Given the description of an element on the screen output the (x, y) to click on. 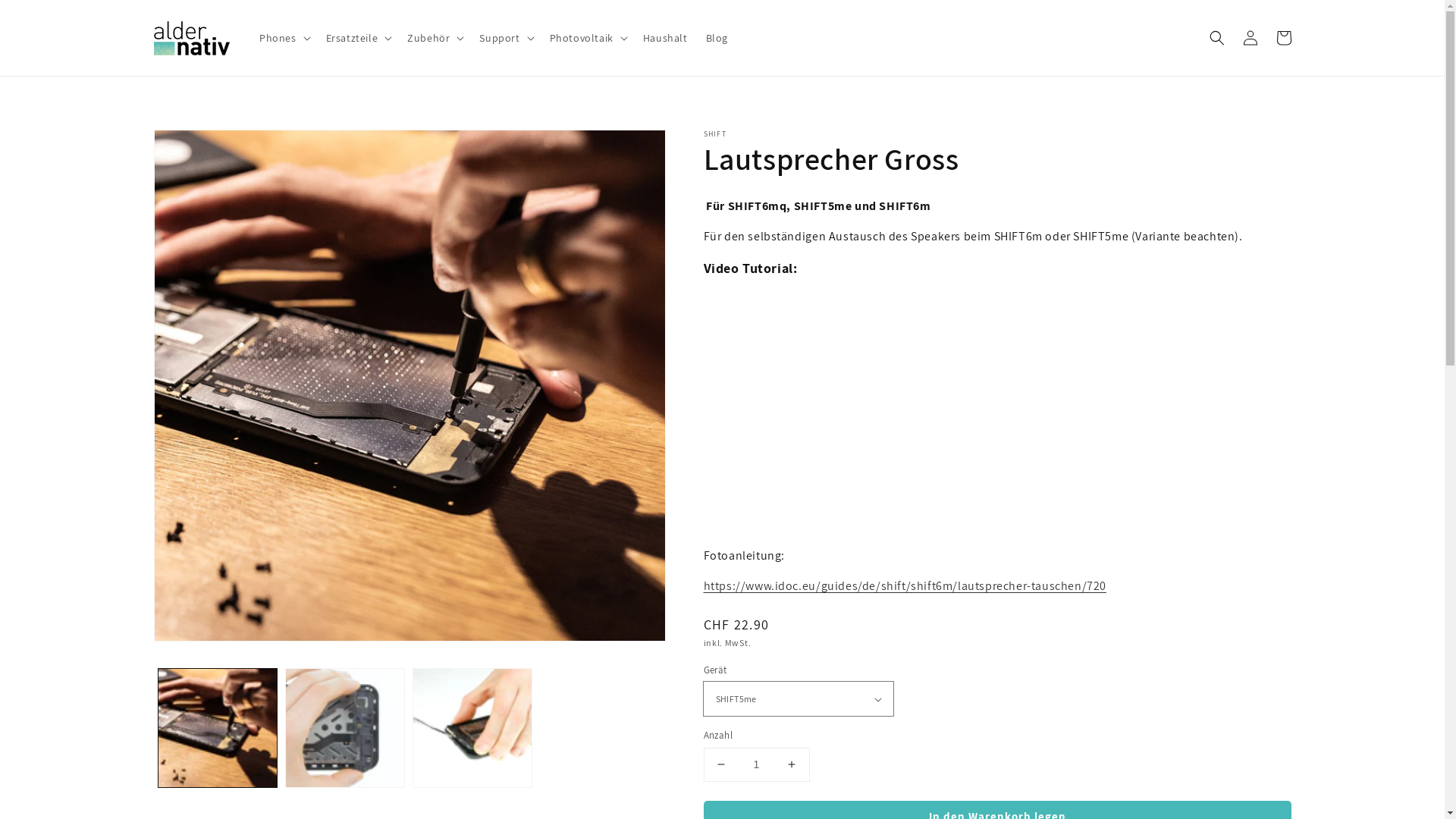
Haushalt Element type: text (664, 37)
Zu Produktinformationen springen Element type: text (198, 145)
Einloggen Element type: text (1249, 37)
Warenkorb Element type: text (1282, 37)
Blog Element type: text (716, 37)
YouTube video player Element type: hover (915, 409)
